Given the description of an element on the screen output the (x, y) to click on. 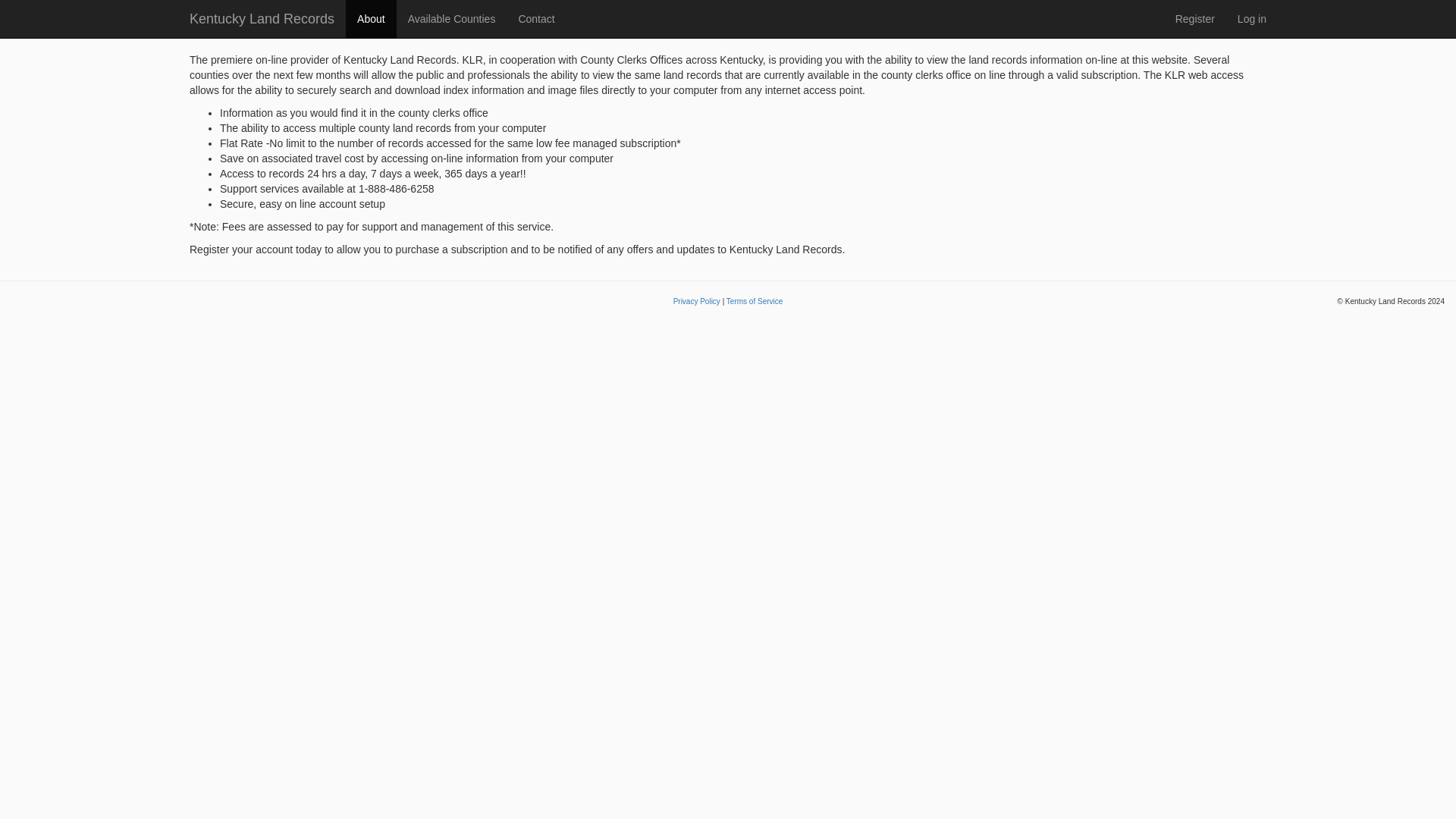
Kentucky Land Records (261, 18)
Available Counties (451, 18)
Privacy Policy (696, 301)
Terms of Service (754, 301)
About (371, 18)
Register (1194, 18)
Log in (1251, 18)
Contact (536, 18)
